Given the description of an element on the screen output the (x, y) to click on. 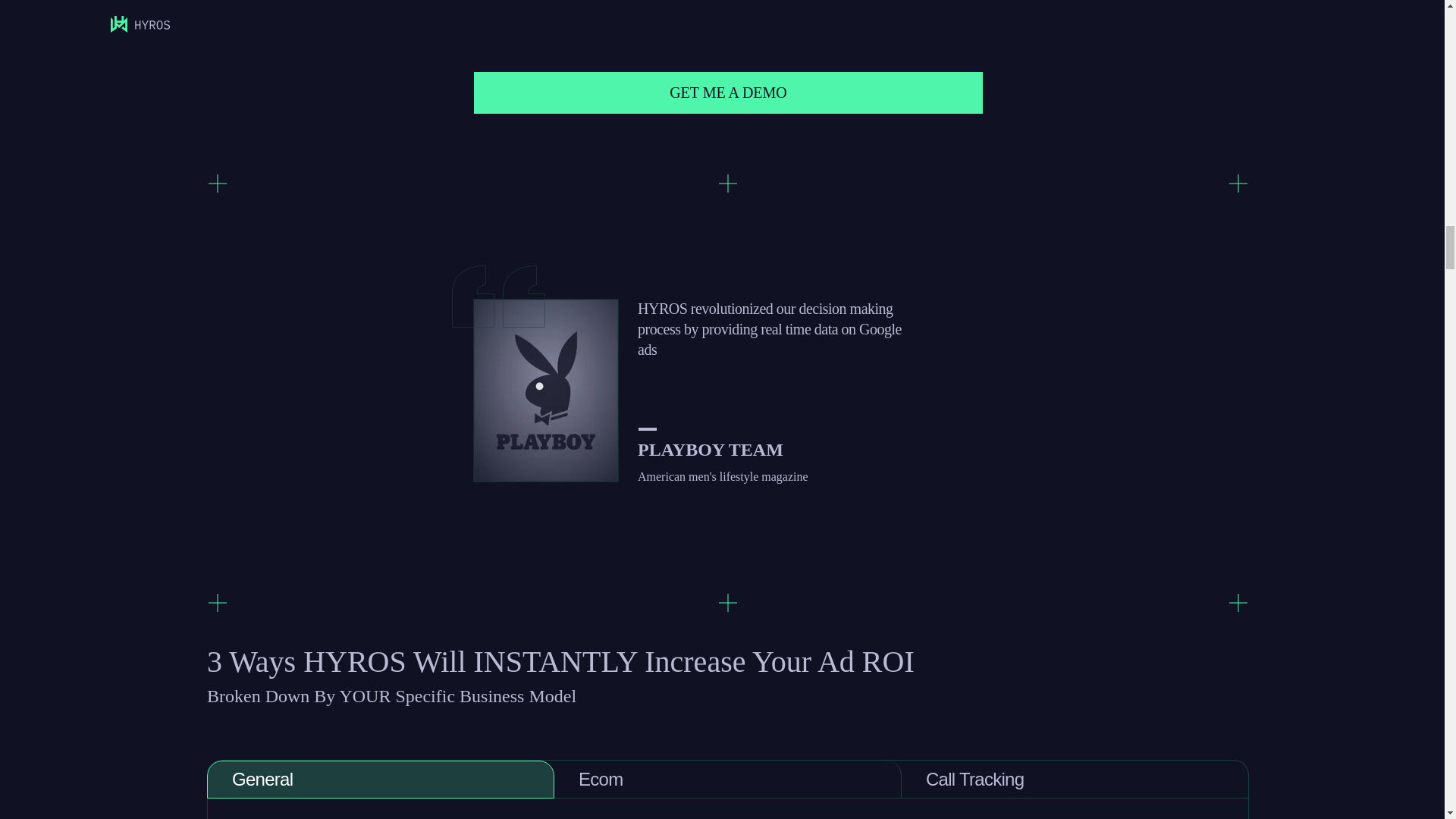
General (380, 779)
GET ME A DEMO (729, 92)
Ecom (727, 779)
Call Tracking (1075, 779)
